Given the description of an element on the screen output the (x, y) to click on. 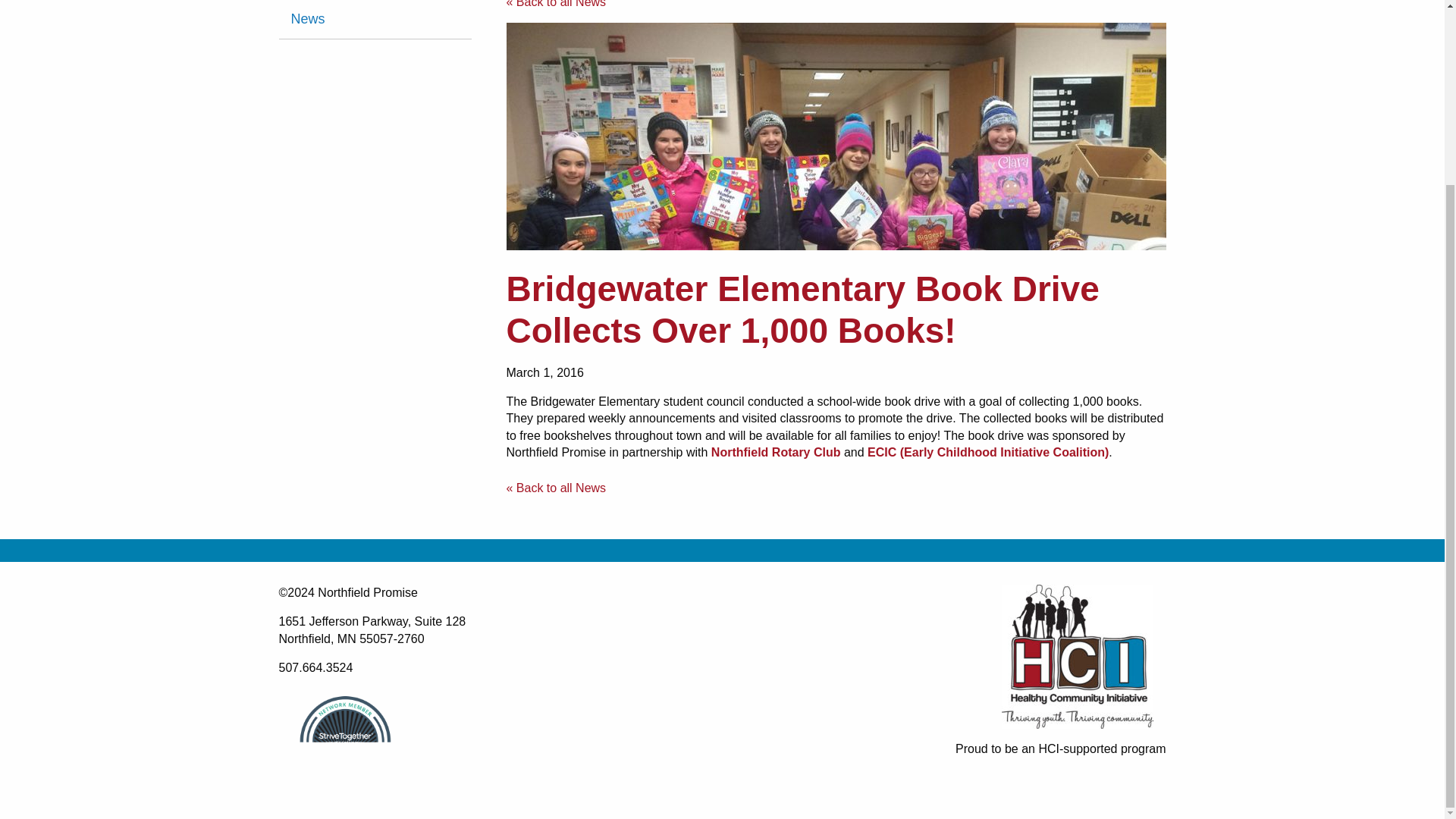
Northfield Rotary Club (776, 451)
News (375, 19)
